Given the description of an element on the screen output the (x, y) to click on. 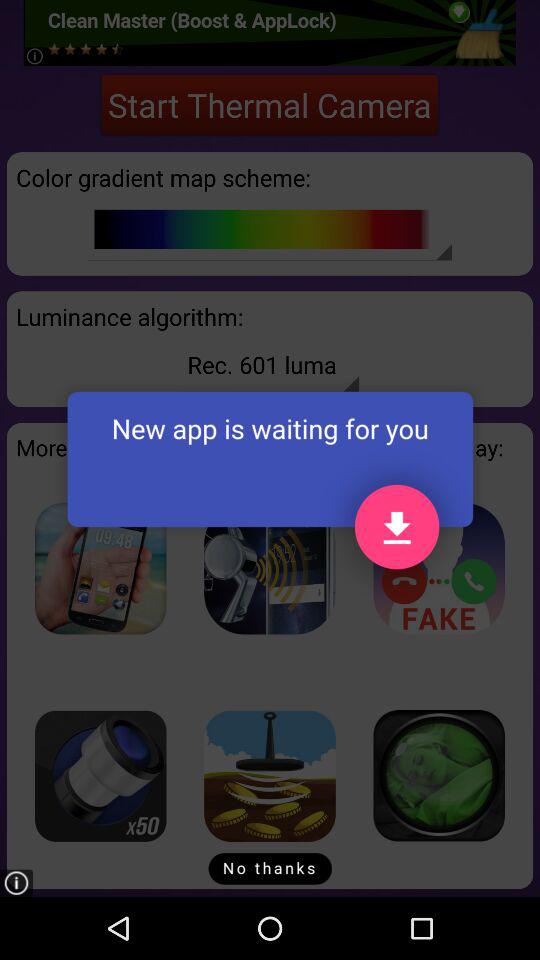
select the item above start thermal camera button (269, 32)
